Given the description of an element on the screen output the (x, y) to click on. 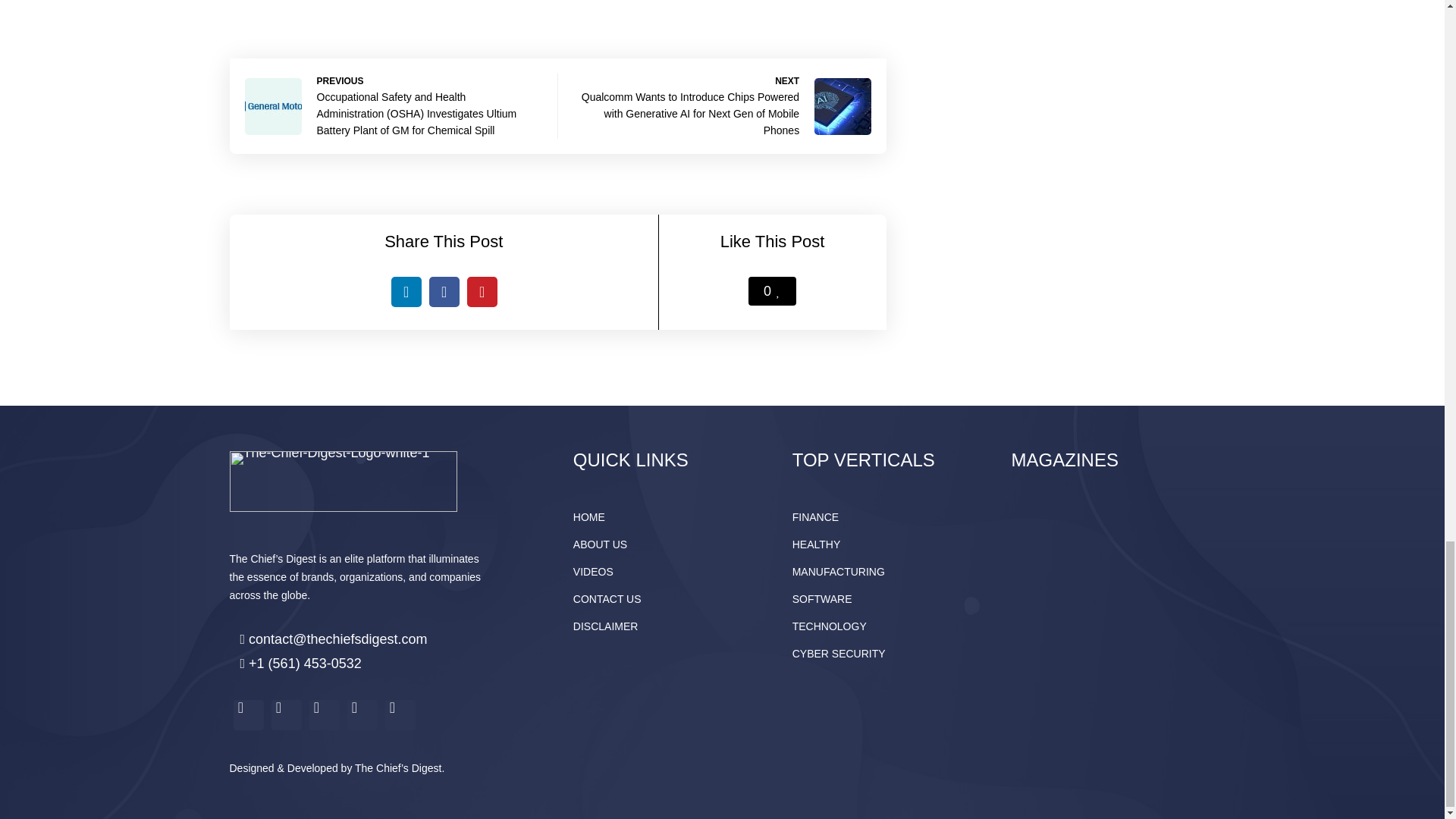
Pinterest (482, 291)
Facebook (444, 291)
LinkedIn (406, 291)
